Given the description of an element on the screen output the (x, y) to click on. 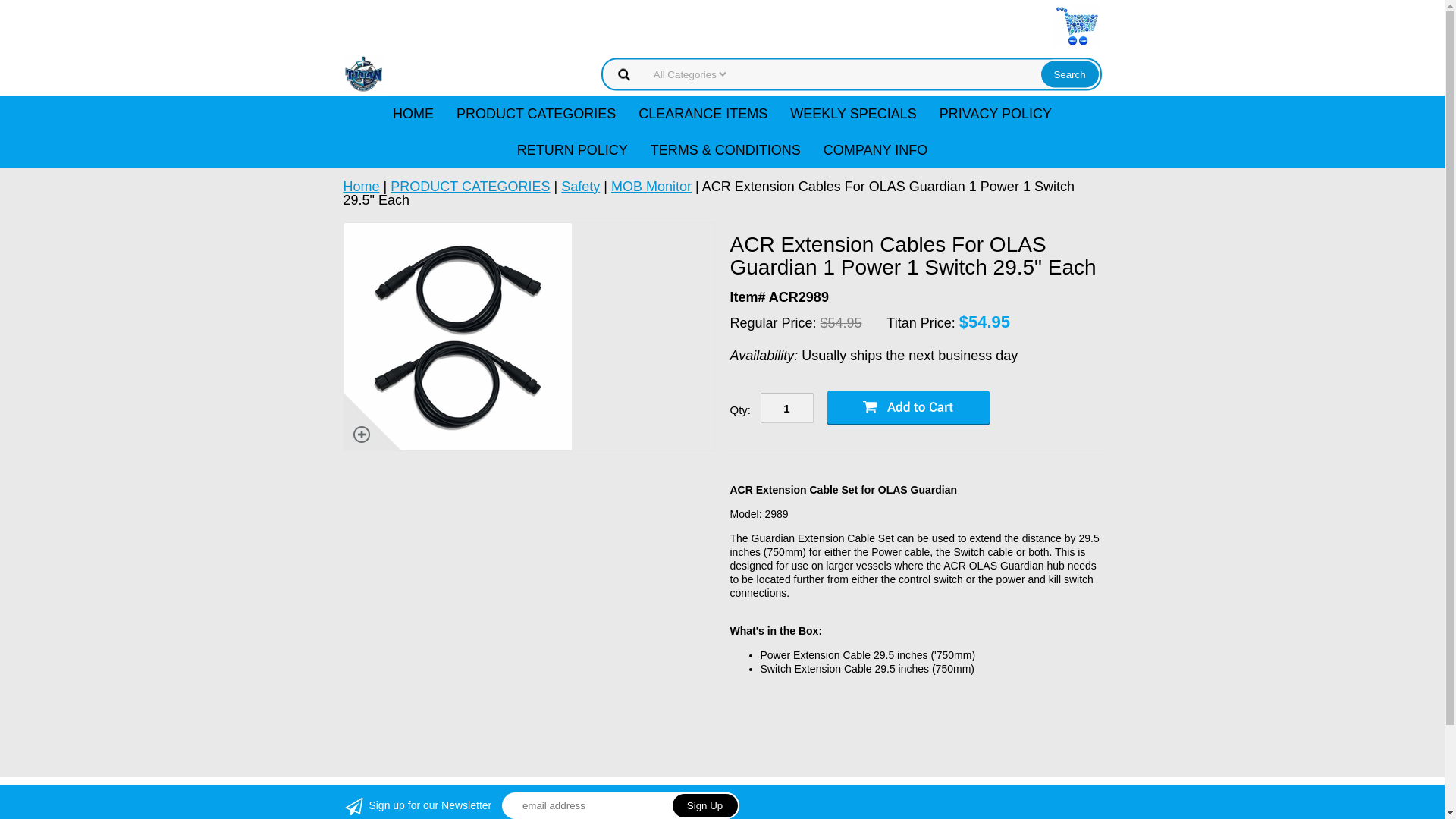
PRODUCT CATEGORIES (536, 113)
WEEKLY SPECIALS (852, 113)
Titan Marine Watersports - Marine Super Store (363, 73)
1 (786, 408)
Search (1069, 73)
CLEARANCE ITEMS (702, 113)
Add To Cart (907, 407)
Search (1069, 73)
Sign Up (705, 805)
HOME (413, 113)
